Given the description of an element on the screen output the (x, y) to click on. 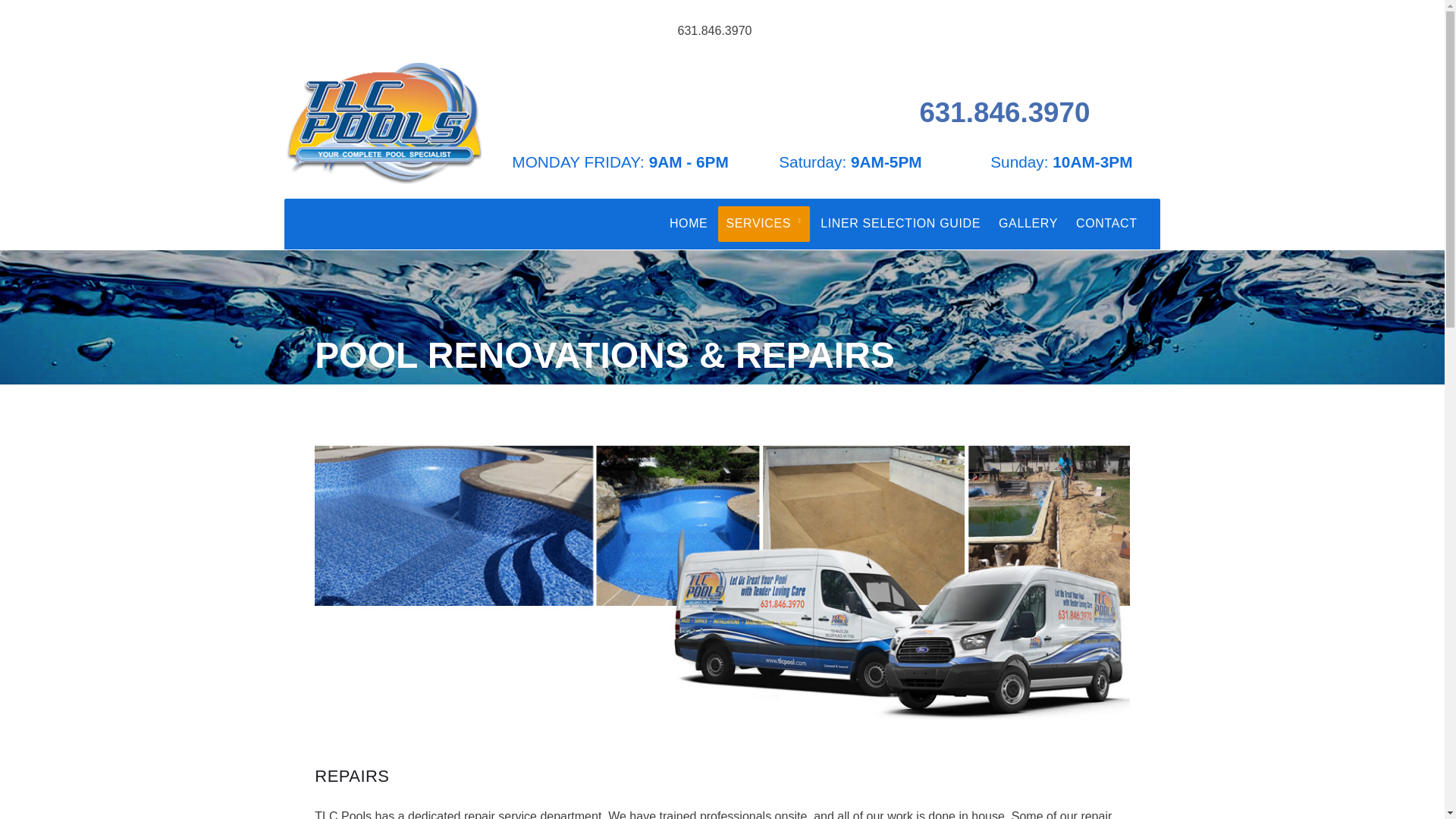
GALLERY (1028, 223)
631.846.3970 (715, 30)
CONTACT (1106, 223)
LINER SELECTION GUIDE (900, 223)
SERVICES (763, 223)
HOME (689, 223)
631.846.3970 (1003, 112)
